Given the description of an element on the screen output the (x, y) to click on. 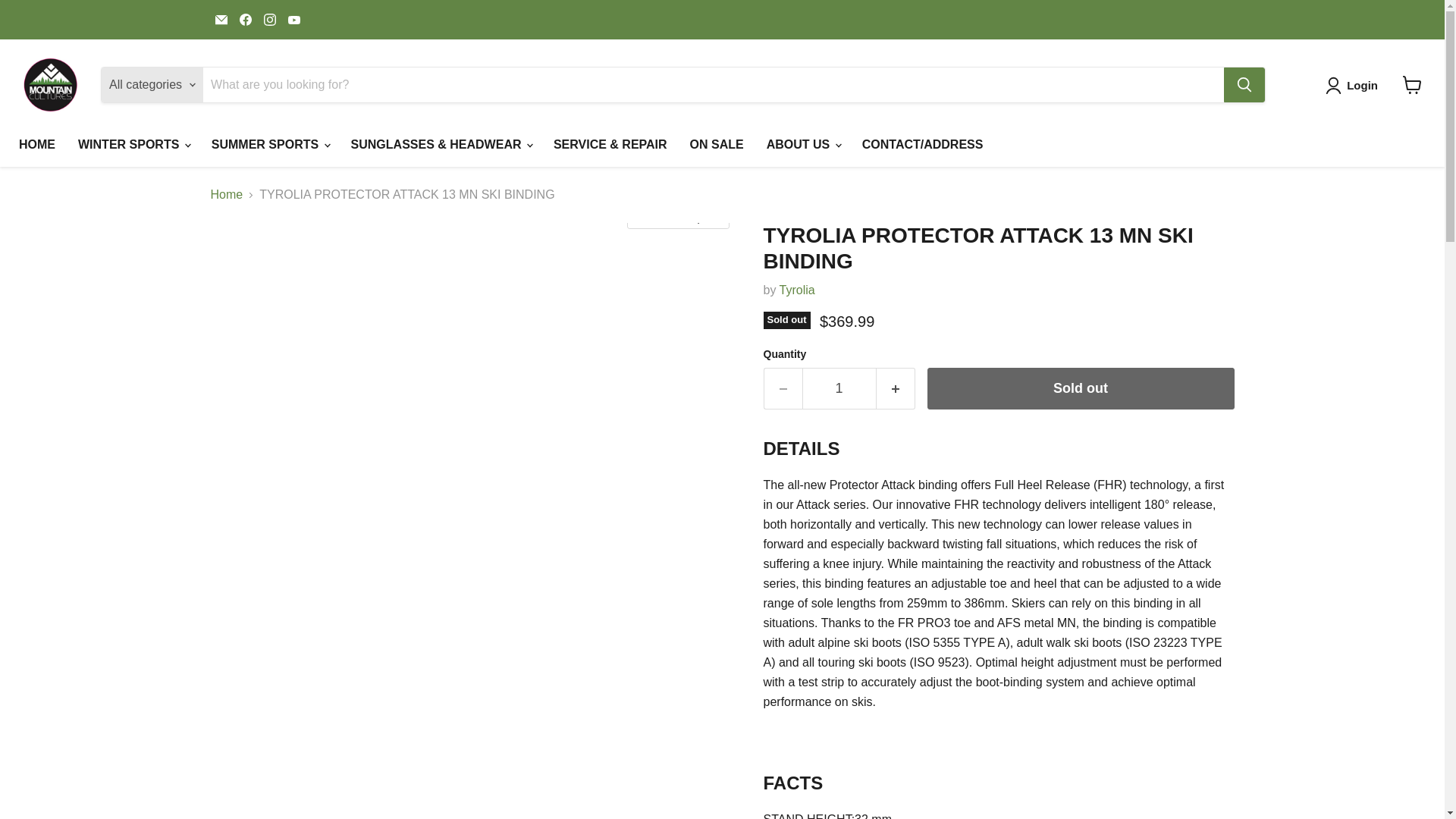
Email (221, 19)
YouTube (293, 19)
Find us on YouTube (293, 19)
HOME (36, 144)
Facebook (245, 19)
1 (839, 388)
Tyrolia (796, 289)
Find us on Instagram (270, 19)
View cart (1411, 84)
Login (1354, 85)
Instagram (270, 19)
Email Mountain Cultures (221, 19)
Find us on Facebook (245, 19)
